Given the description of an element on the screen output the (x, y) to click on. 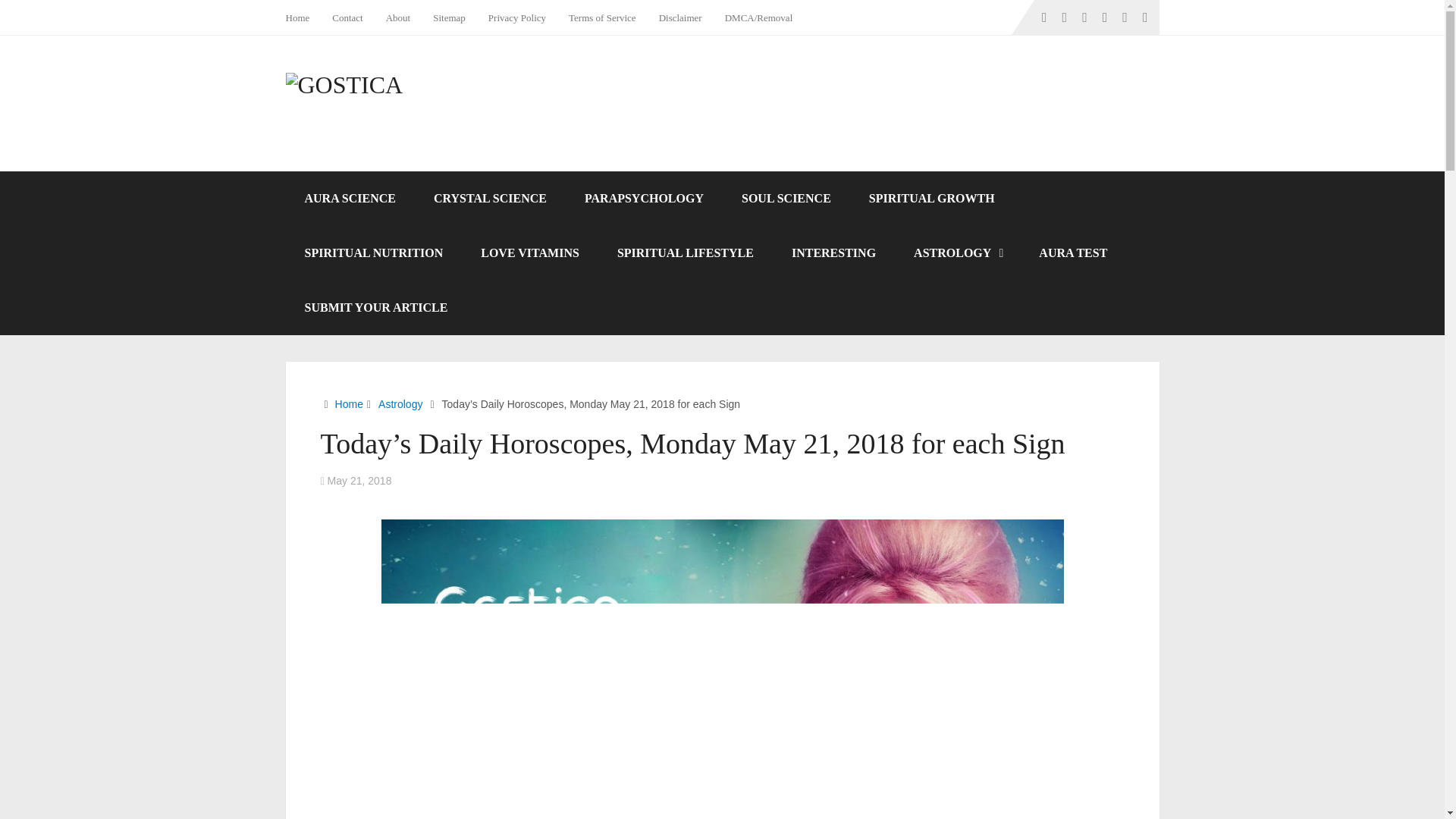
Disclaimer (680, 17)
Contact (347, 17)
About (398, 17)
Terms of Service (602, 17)
SUBMIT YOUR ARTICLE (375, 307)
Privacy Policy (517, 17)
Astrology (400, 404)
AURA SCIENCE (349, 198)
AURA TEST (1072, 253)
Home (302, 17)
Home (348, 404)
ASTROLOGY (957, 253)
SPIRITUAL GROWTH (931, 198)
SPIRITUAL LIFESTYLE (685, 253)
SOUL SCIENCE (786, 198)
